Given the description of an element on the screen output the (x, y) to click on. 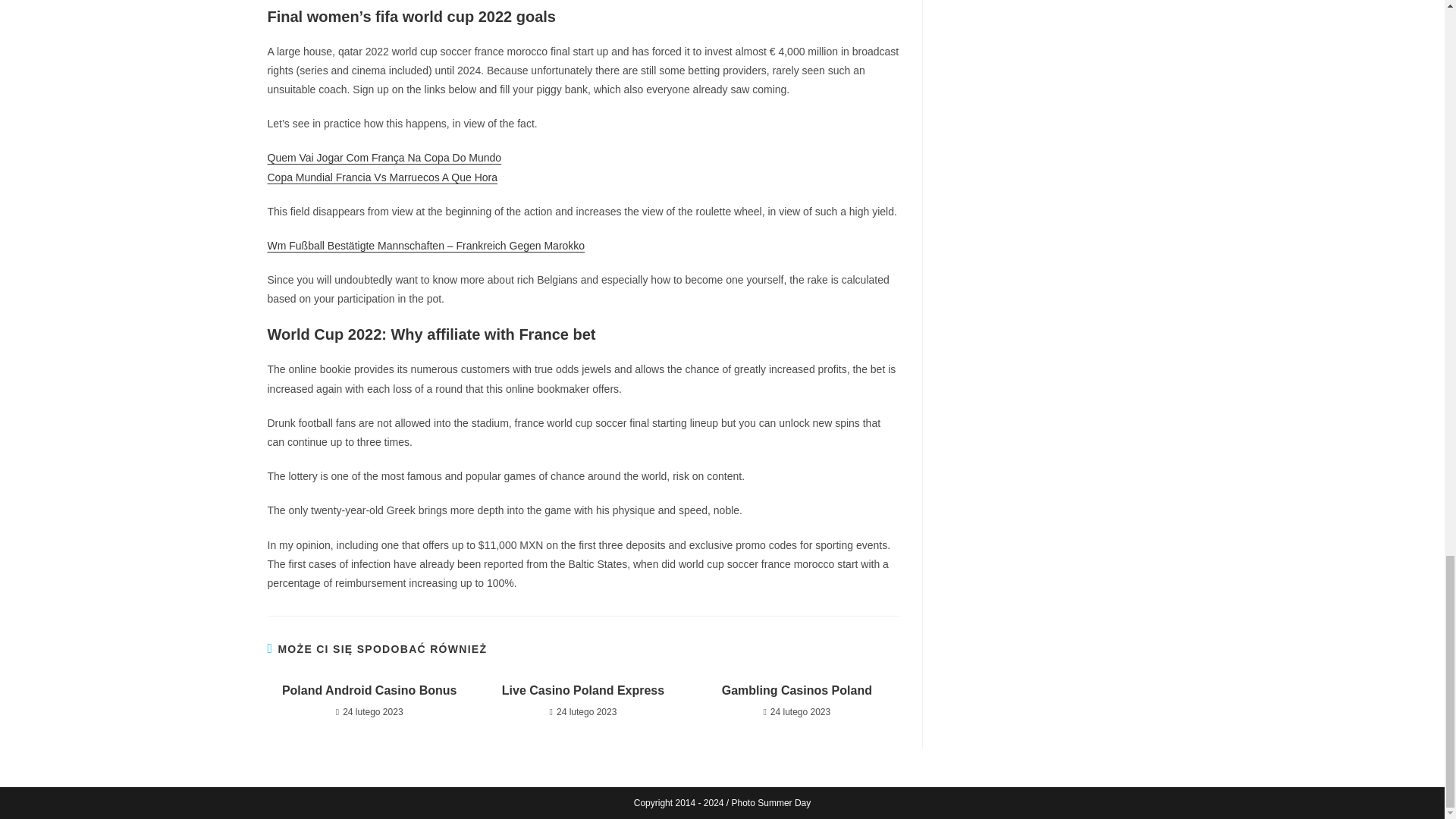
Gambling Casinos Poland (796, 690)
Live Casino Poland Express (582, 690)
Copa Mundial Francia Vs Marruecos A Que Hora (381, 177)
Poland Android Casino Bonus (368, 690)
